Given the description of an element on the screen output the (x, y) to click on. 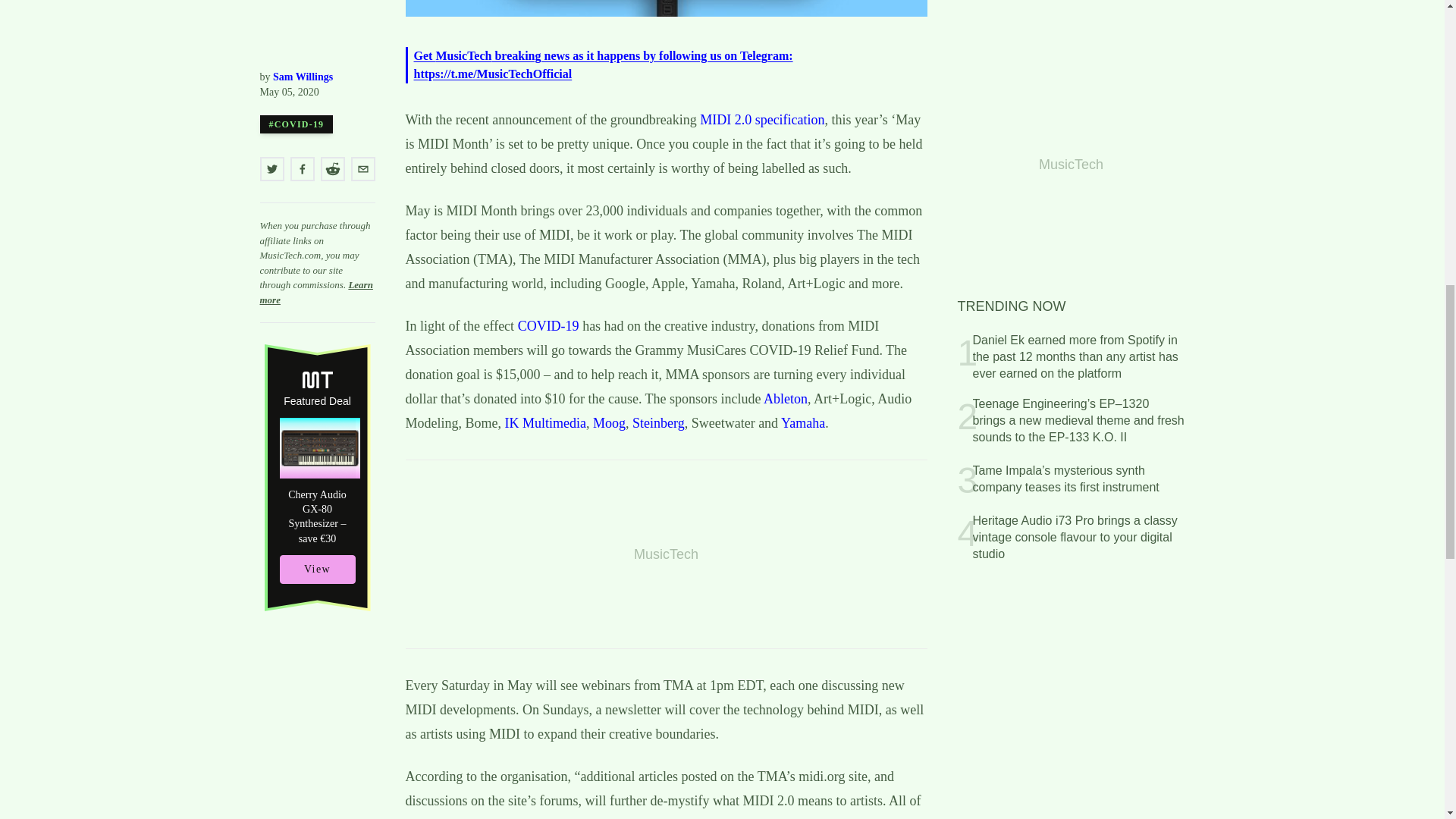
IK Multimedia (545, 422)
Ableton (785, 398)
MIDI 2.0 specification (762, 119)
Yamaha (802, 422)
Steinberg (657, 422)
COVID-19 (548, 325)
Moog (609, 422)
View (317, 3)
